Given the description of an element on the screen output the (x, y) to click on. 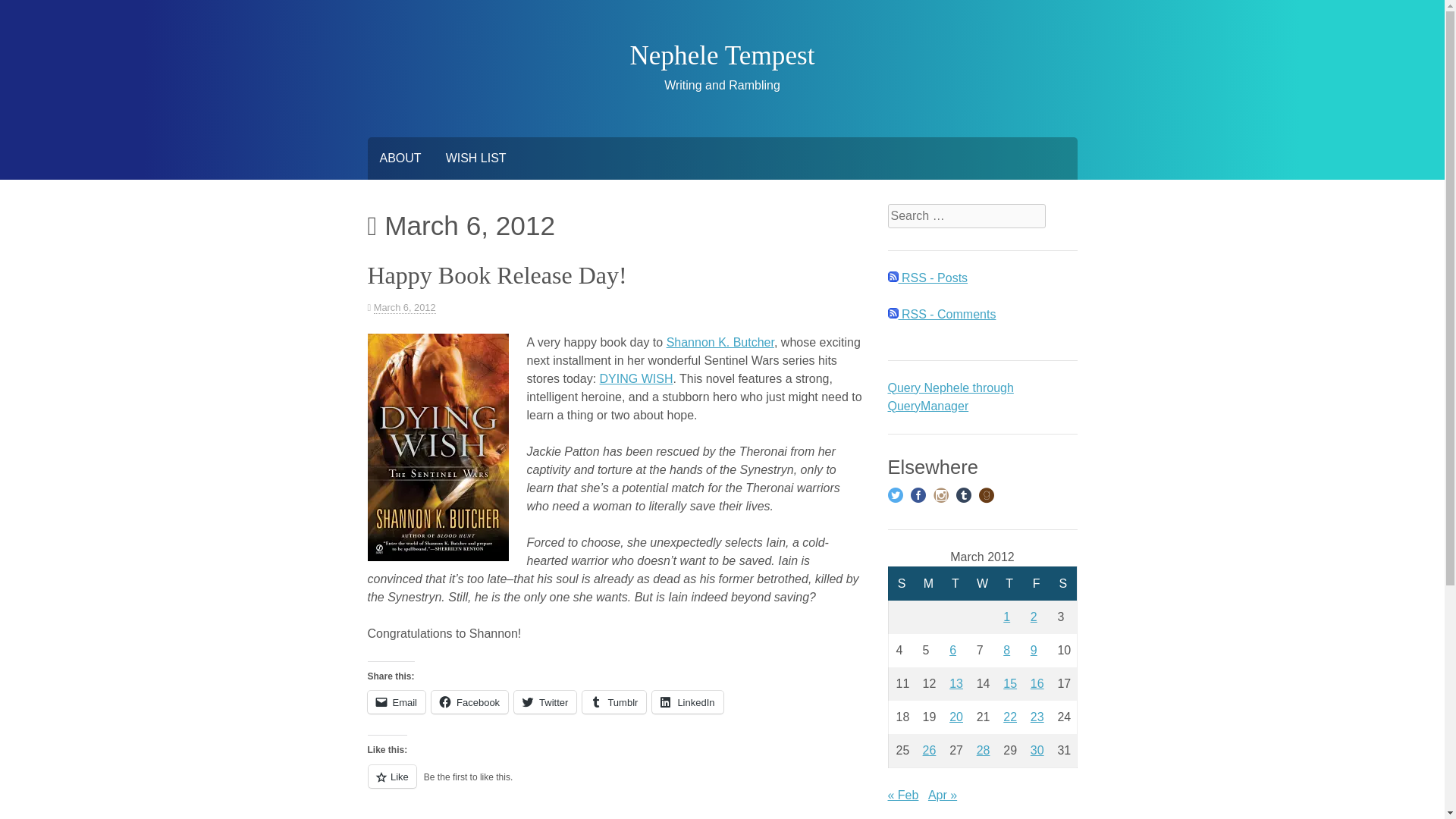
Email (395, 702)
Tuesday (955, 583)
Like or Reblog (614, 784)
Sunday (901, 583)
Saturday (1063, 583)
23 (1036, 716)
Search (24, 9)
9 (1033, 649)
Tumblr (614, 702)
Dying Wish (437, 447)
 RSS - Posts (927, 277)
6 (952, 649)
WISH LIST (475, 158)
ABOUT (399, 158)
1 (1006, 616)
